Given the description of an element on the screen output the (x, y) to click on. 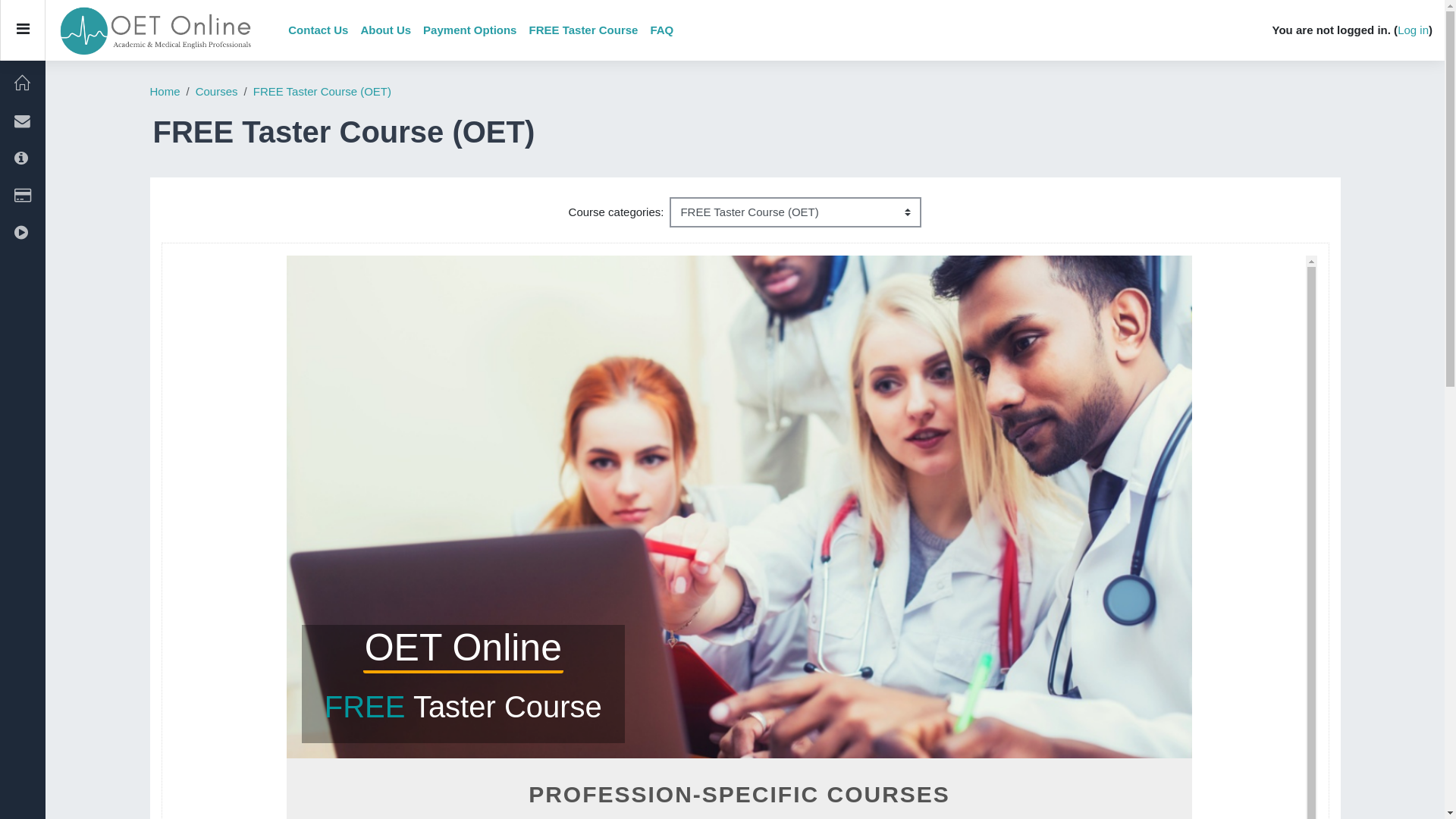
Side panel Element type: text (22, 30)
FREE Taster Course (OET) Element type: text (322, 91)
Contact Us Element type: text (318, 30)
Log in Element type: text (1412, 29)
Courses Element type: text (216, 91)
FAQ Element type: text (661, 30)
FREE Taster Course Element type: text (582, 30)
About Us Element type: text (385, 30)
Payment Options Element type: text (469, 30)
Home Element type: text (165, 91)
